Given the description of an element on the screen output the (x, y) to click on. 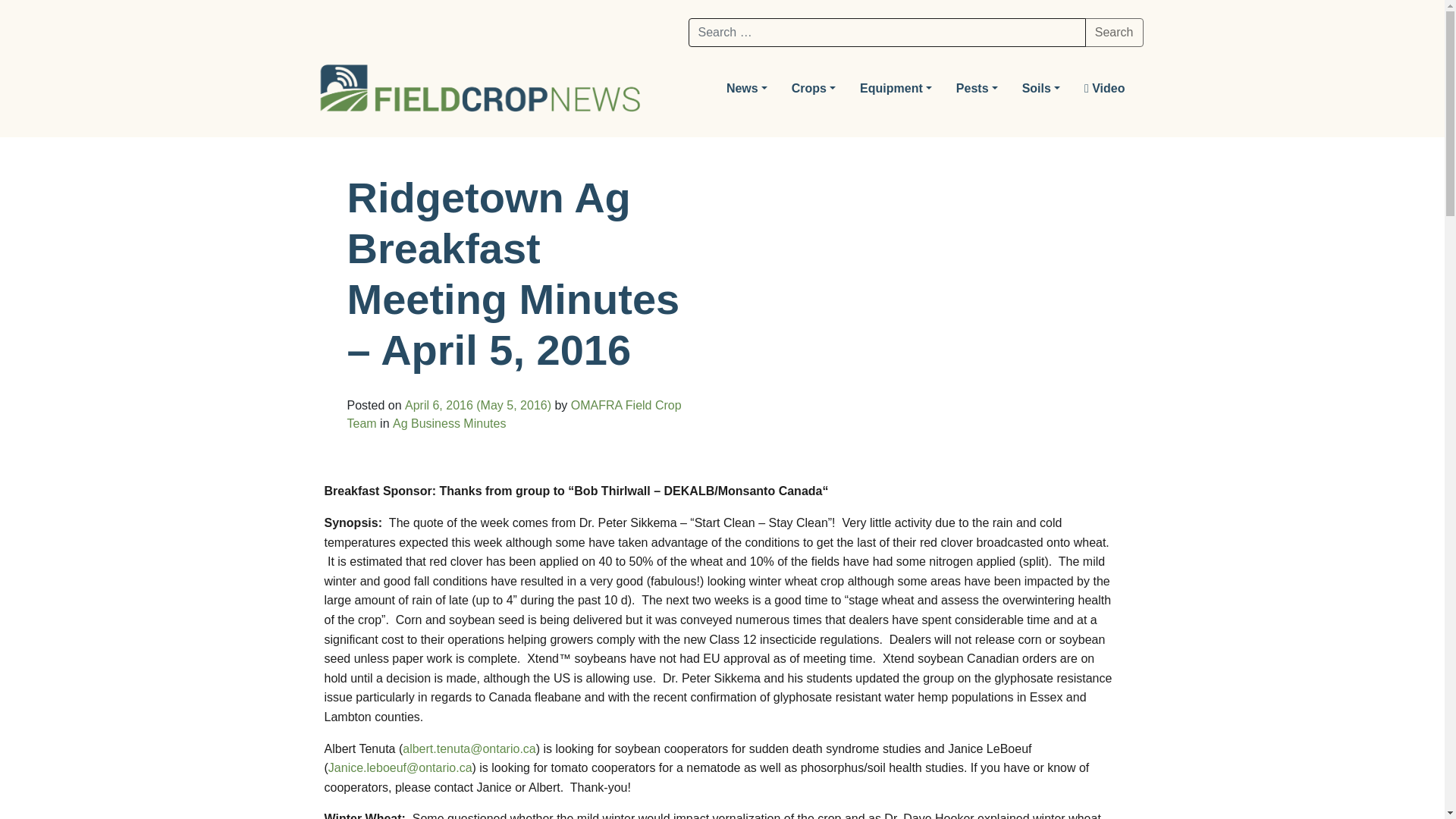
Ag Business Minutes (449, 422)
Equipment (895, 88)
Search (1113, 32)
Crops (813, 88)
News (746, 88)
News (746, 88)
OMAFRA Field Crop Team (514, 413)
Pests (977, 88)
Search (1113, 32)
Video (1104, 88)
Crops (813, 88)
Soils (1040, 88)
Search (1113, 32)
